Given the description of an element on the screen output the (x, y) to click on. 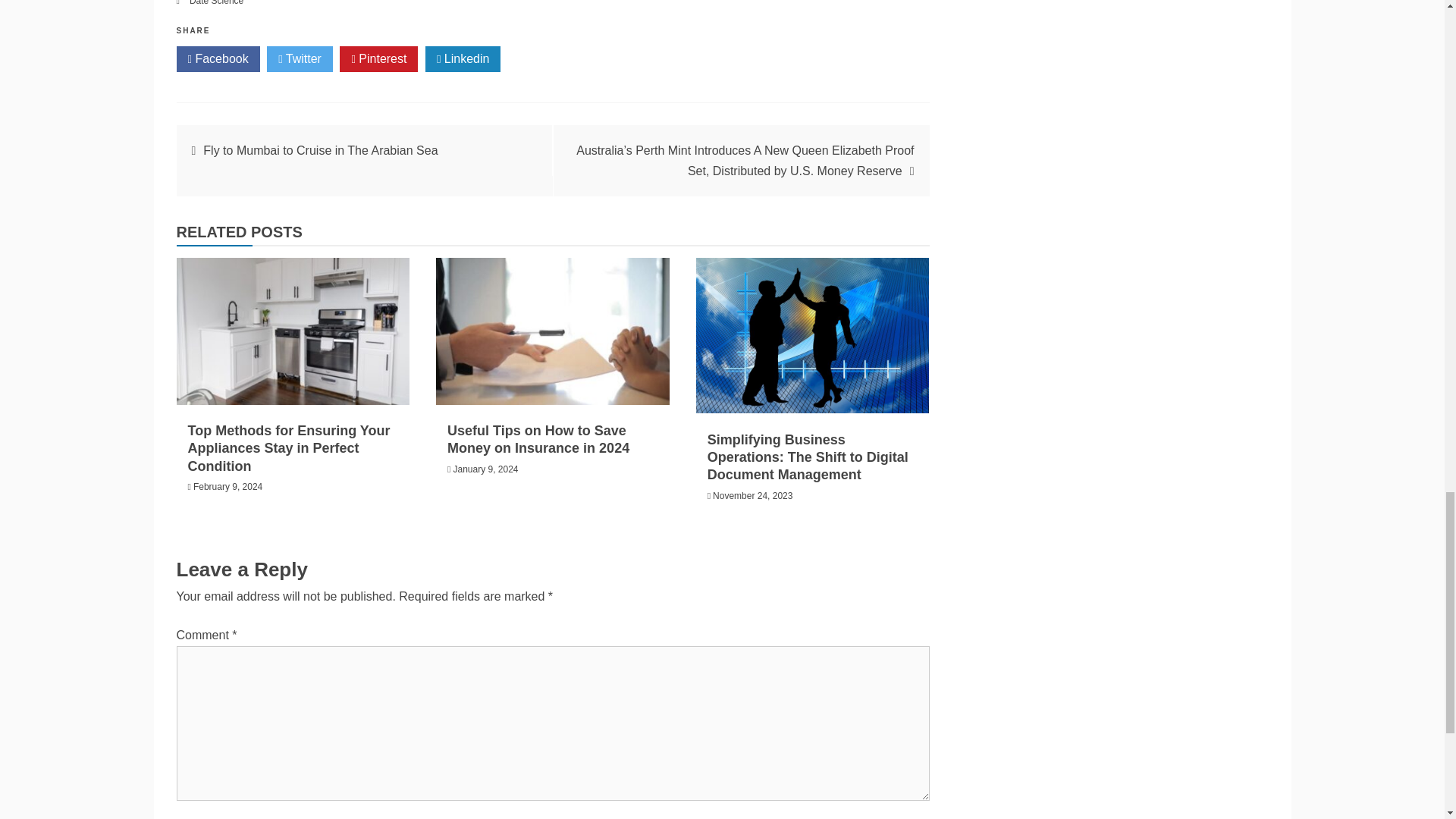
Twitter (299, 58)
Fly to Mumbai to Cruise in The Arabian Sea (320, 150)
Date Science (216, 2)
Facebook (217, 58)
Linkedin (462, 58)
Pinterest (378, 58)
